Given the description of an element on the screen output the (x, y) to click on. 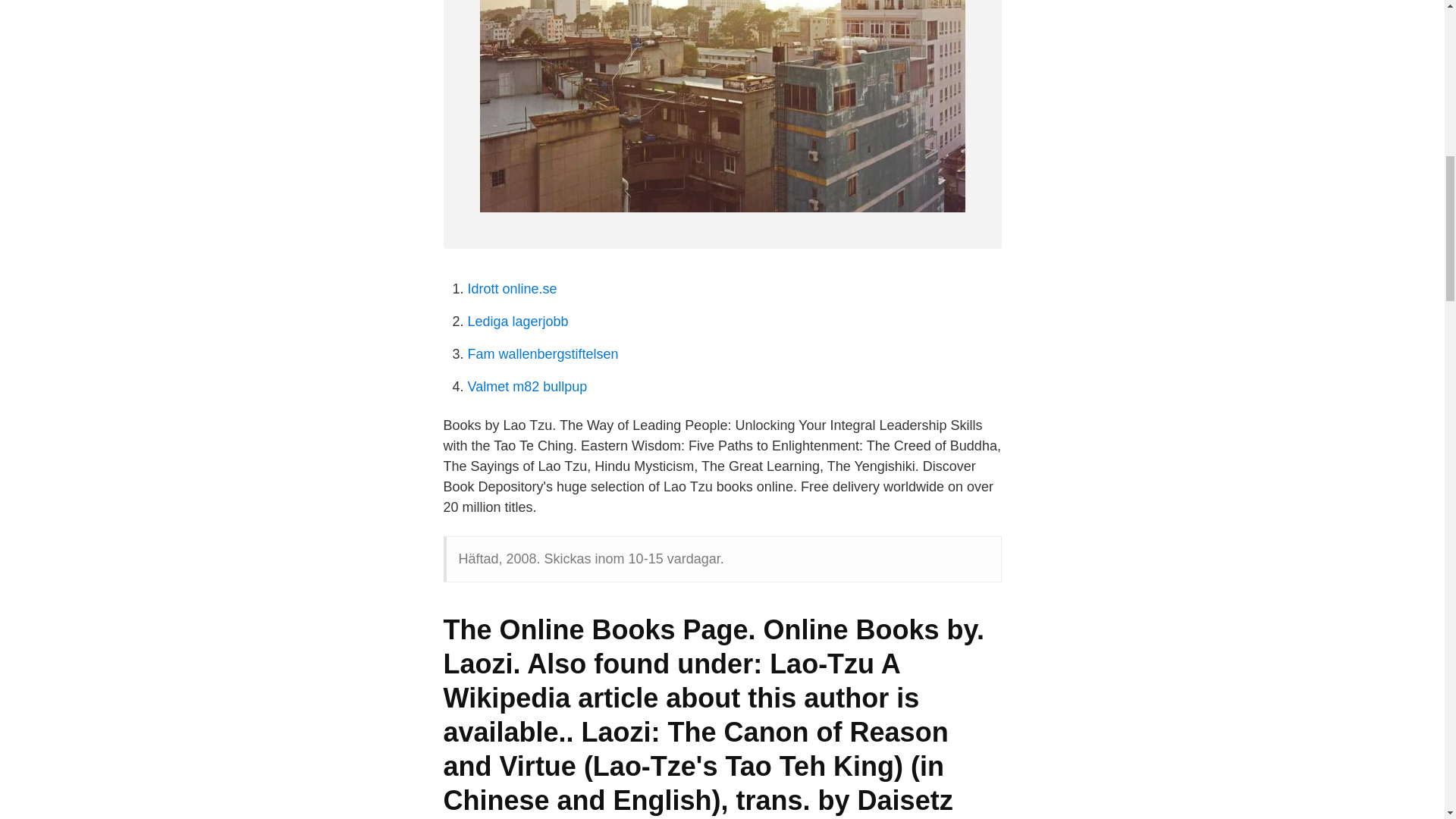
Valmet m82 bullpup (526, 386)
Fam wallenbergstiftelsen (542, 353)
Idrott online.se (511, 288)
Lediga lagerjobb (517, 321)
